Given the description of an element on the screen output the (x, y) to click on. 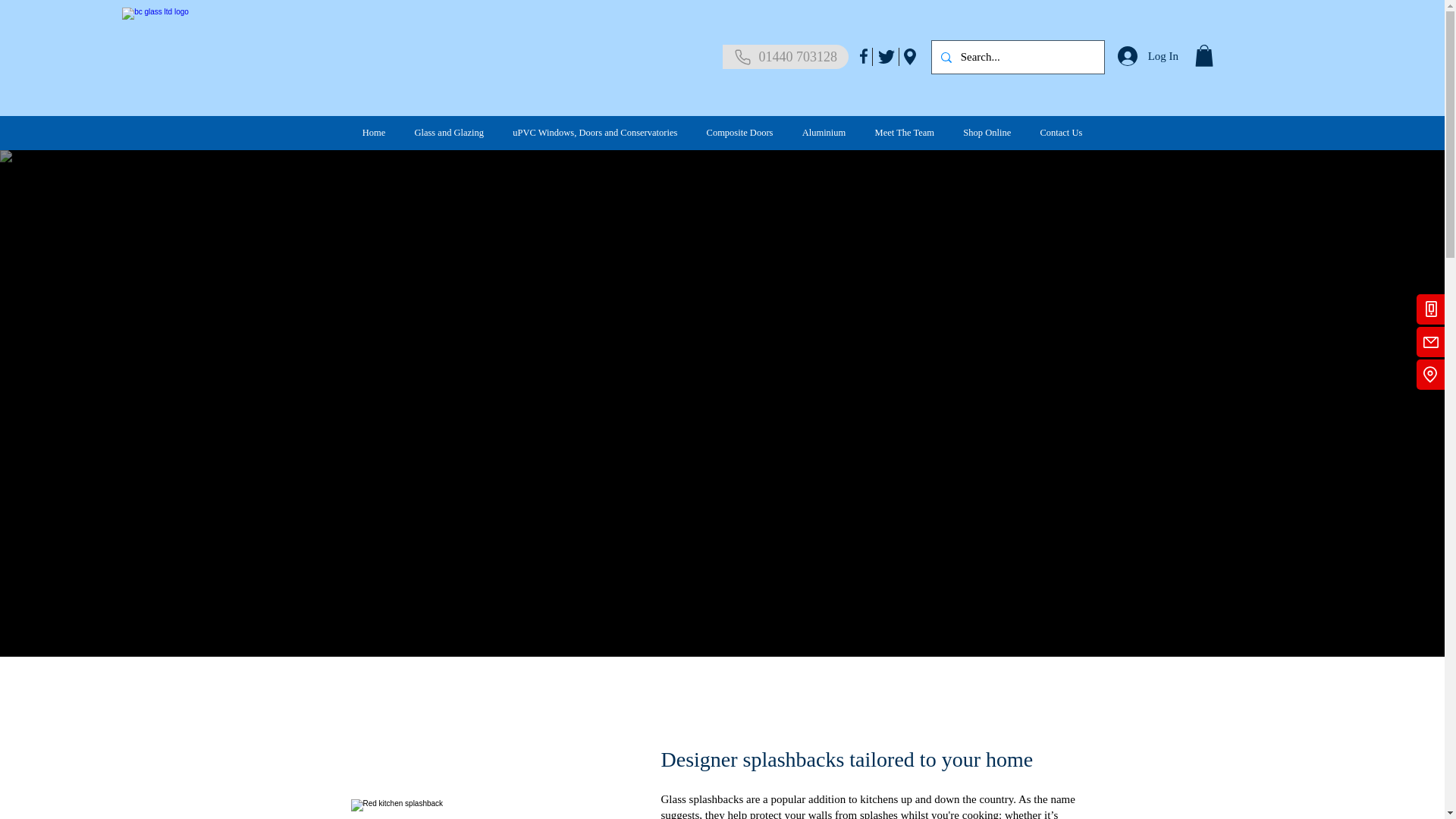
Log In (1146, 55)
Meet The Team (903, 132)
Aluminium (823, 132)
01440 703128 (785, 56)
Composite Doors (739, 132)
Contact Us (1060, 132)
Home (373, 132)
Shop Online (987, 132)
uPVC Windows, Doors and Conservatories (594, 132)
